Given the description of an element on the screen output the (x, y) to click on. 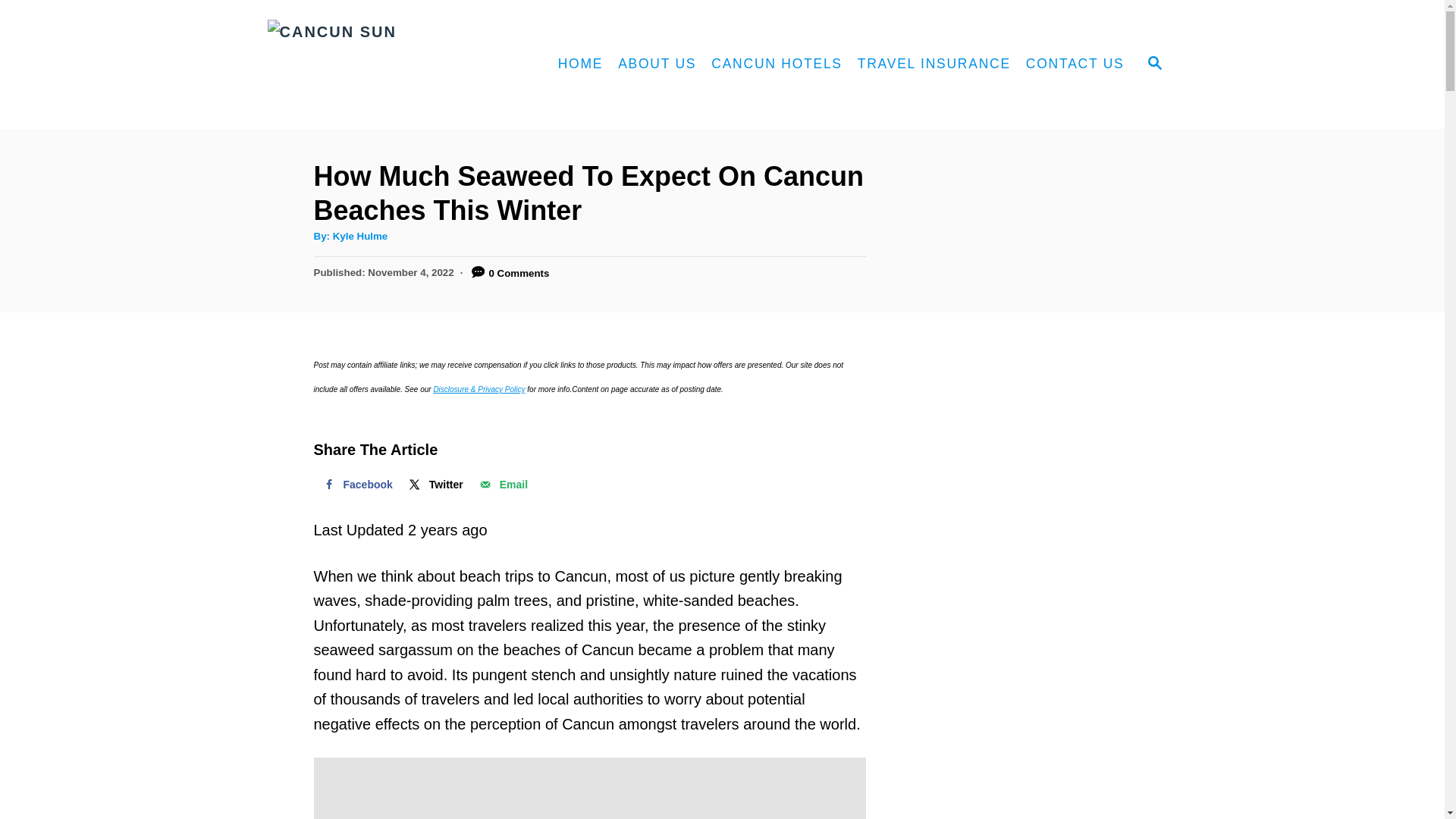
Email (502, 484)
HOME (580, 64)
Share on X (434, 484)
TRAVEL INSURANCE (933, 64)
Share on Facebook (356, 484)
ABOUT US (656, 64)
Send over email (502, 484)
SEARCH (1153, 63)
Cancun Sun (394, 64)
Twitter (434, 484)
CANCUN HOTELS (776, 64)
Facebook (356, 484)
Kyle Hulme (360, 235)
CONTACT US (1074, 64)
